Given the description of an element on the screen output the (x, y) to click on. 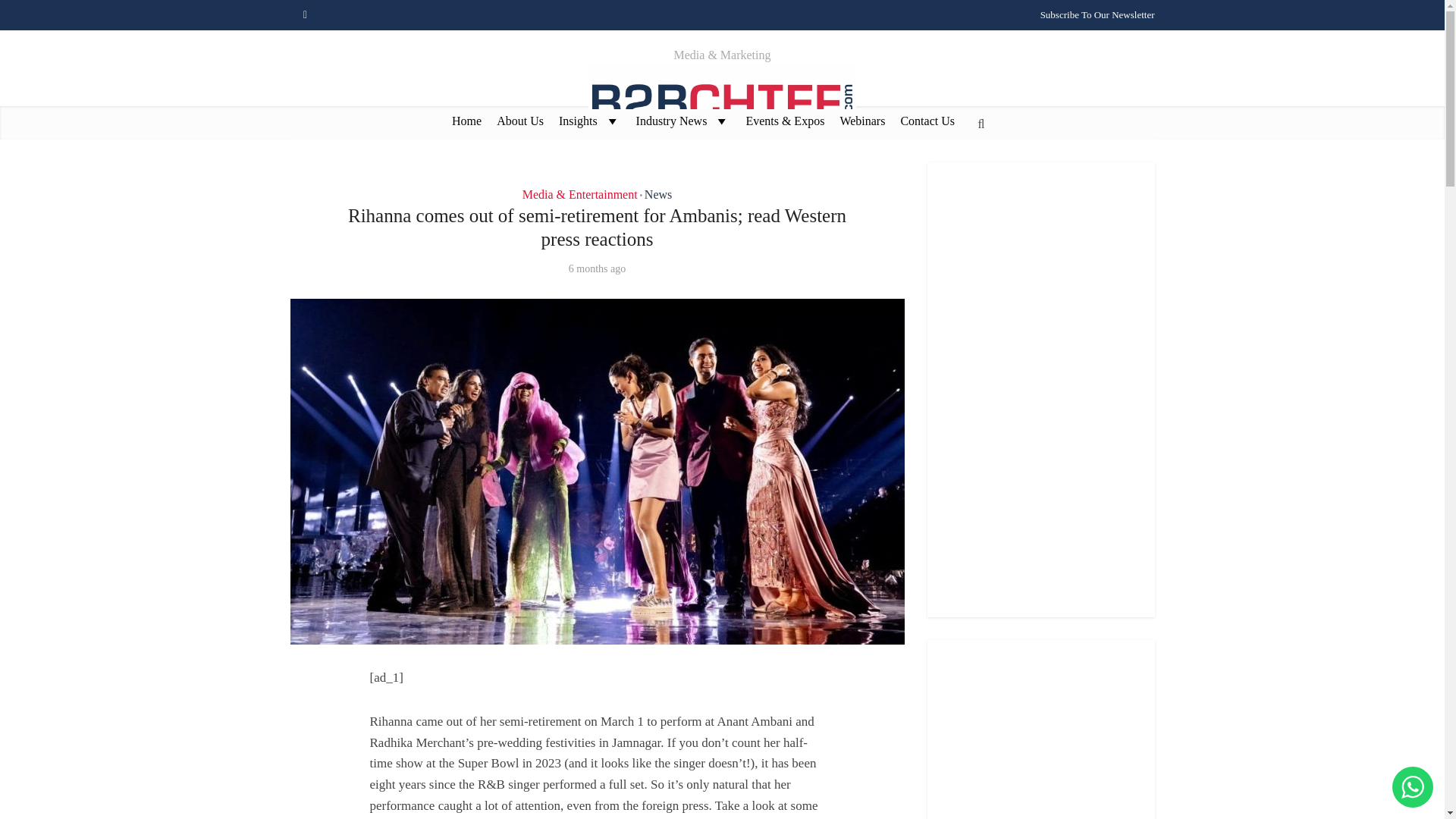
Advertisement (1040, 729)
Subscribe To Our Newsletter (1097, 14)
Industry News (683, 119)
About Us (520, 119)
Home (466, 119)
Insights (589, 119)
